Given the description of an element on the screen output the (x, y) to click on. 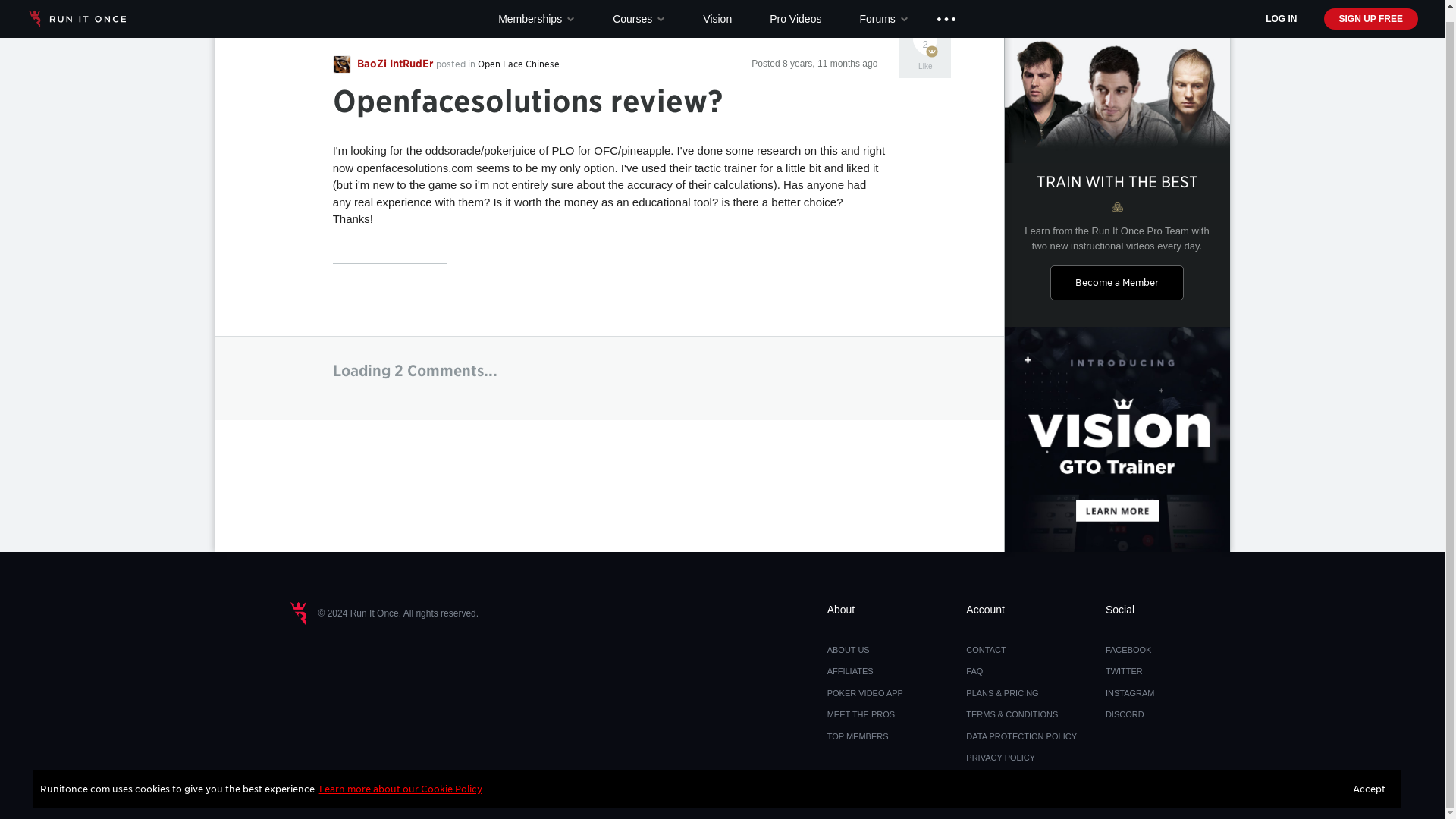
Accept (1369, 777)
View user's profile (384, 63)
Create an account (1370, 9)
Log In (1281, 13)
